Given the description of an element on the screen output the (x, y) to click on. 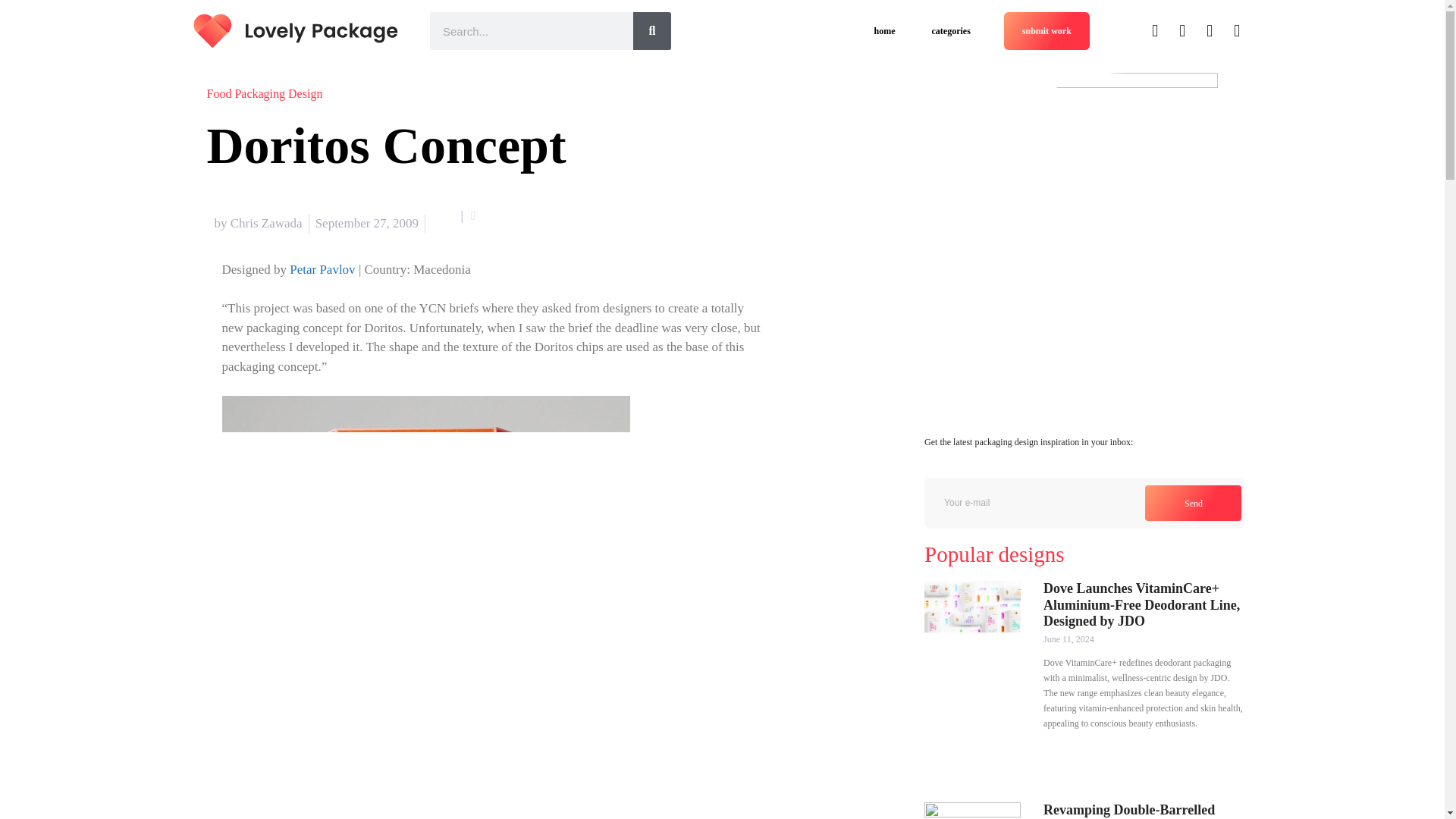
home (885, 30)
submit work (1046, 30)
categories (951, 30)
